Given the description of an element on the screen output the (x, y) to click on. 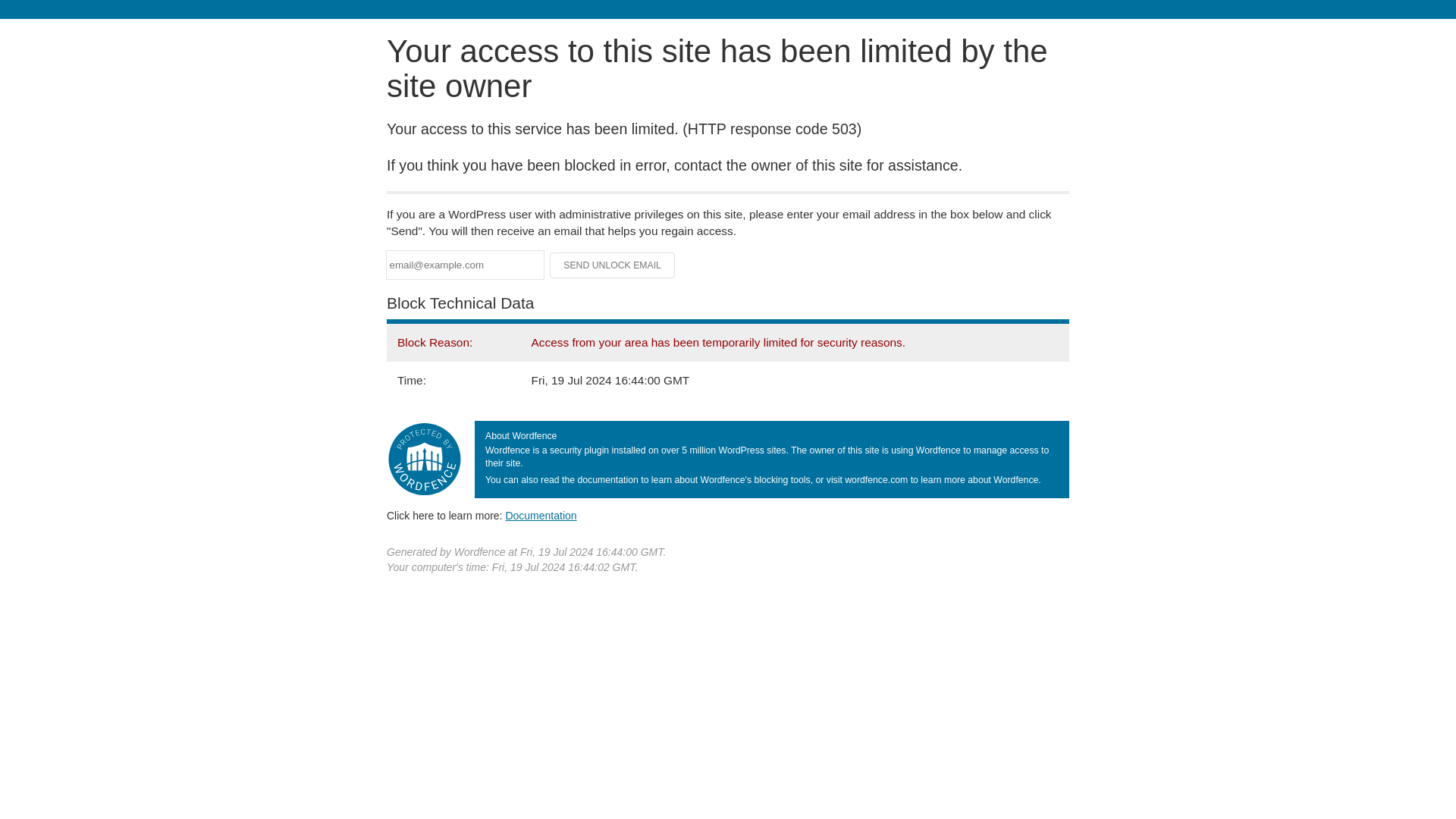
Documentation (540, 515)
Send Unlock Email (612, 265)
Send Unlock Email (612, 265)
